Given the description of an element on the screen output the (x, y) to click on. 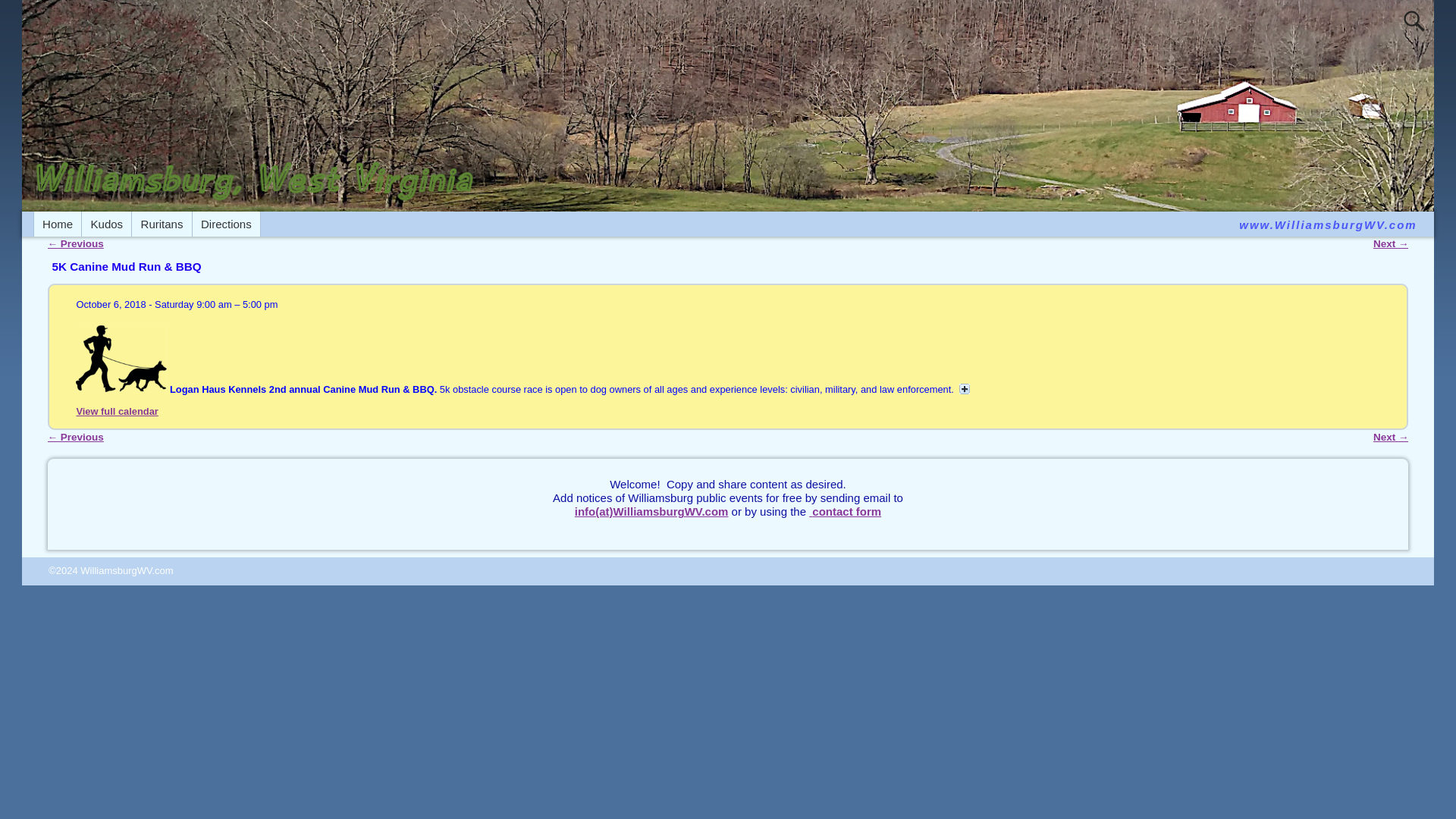
View full calendar (116, 410)
2018-10-06T09:00:00 (215, 304)
Ruritans (162, 223)
2018-10-07T17:00:00 (260, 304)
contact form (844, 511)
Kudos (106, 223)
Home (57, 223)
contact form (844, 511)
Directions (226, 223)
